Given the description of an element on the screen output the (x, y) to click on. 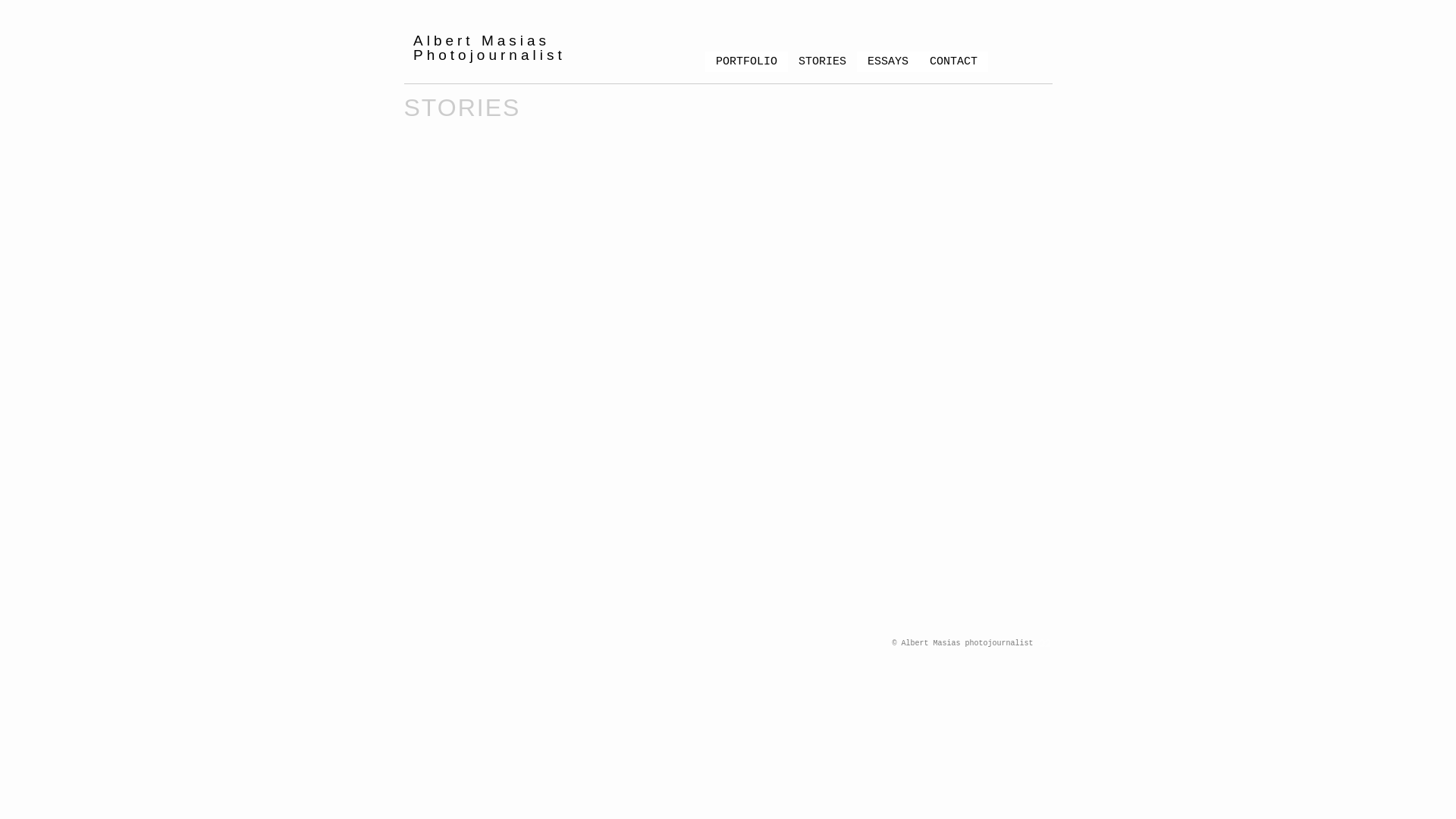
Albert Masias Photojournalist Element type: text (507, 47)
ECUADOR EARTHQUAKE AFTERMATH - Albert Masias photojournalist Element type: hover (645, 219)
CAR REFUGEES IN CAMEROON - Albert Masias photojournalist Element type: hover (972, 219)
MBORORO REGUFEES - Albert Masias photojournalist Element type: hover (481, 535)
PAVILLON BURULI - Albert Masias photojournalist Element type: hover (645, 378)
AFTER EIGHT YEARS - Albert Masias photojournalist Element type: hover (481, 378)
PORTFOLIO Element type: text (746, 61)
TEMPORERS - Albert Masias photojournalist Element type: hover (809, 219)
WEST BANK Surviving everyday - Albert Masias photojournalist Element type: hover (809, 535)
A DEMOLIR - Albert Masias photojournalist Element type: hover (972, 378)
C.I.E BCN - Albert Masias photojournalist Element type: hover (809, 378)
SARAJEVO Don't forget... - Albert Masias photojournalist Element type: hover (645, 535)
CONTACT Element type: text (953, 61)
STORIES Element type: text (821, 61)
SAR Central Mediterranean - Albert Masias photojournalist Element type: hover (481, 219)
ESSAYS Element type: text (887, 61)
